Given the description of an element on the screen output the (x, y) to click on. 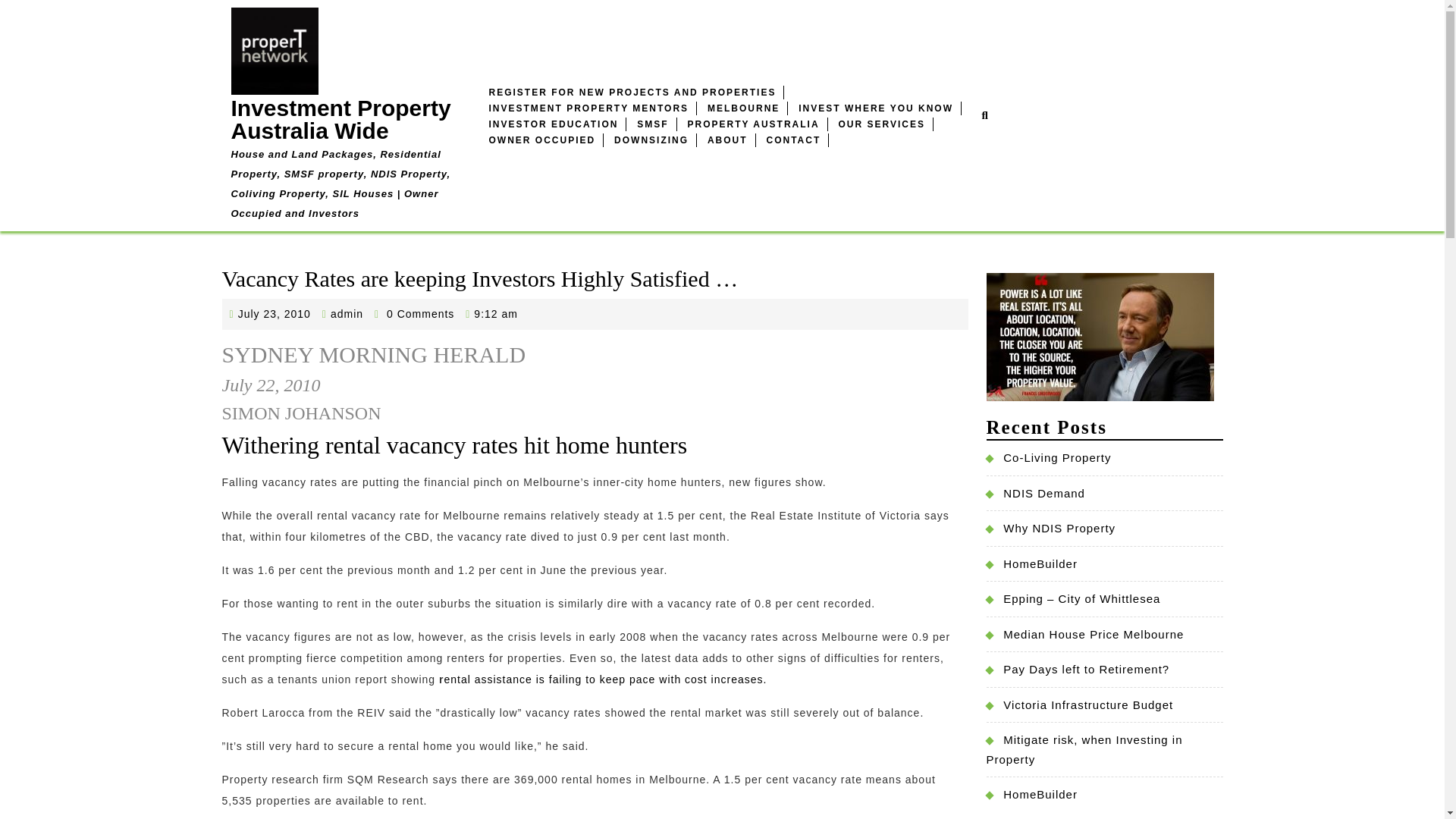
INVESTMENT PROPERTY MENTORS (588, 108)
Investment Property Australia Wide (339, 119)
REGISTER FOR NEW PROJECTS AND PROPERTIES (632, 91)
